Given the description of an element on the screen output the (x, y) to click on. 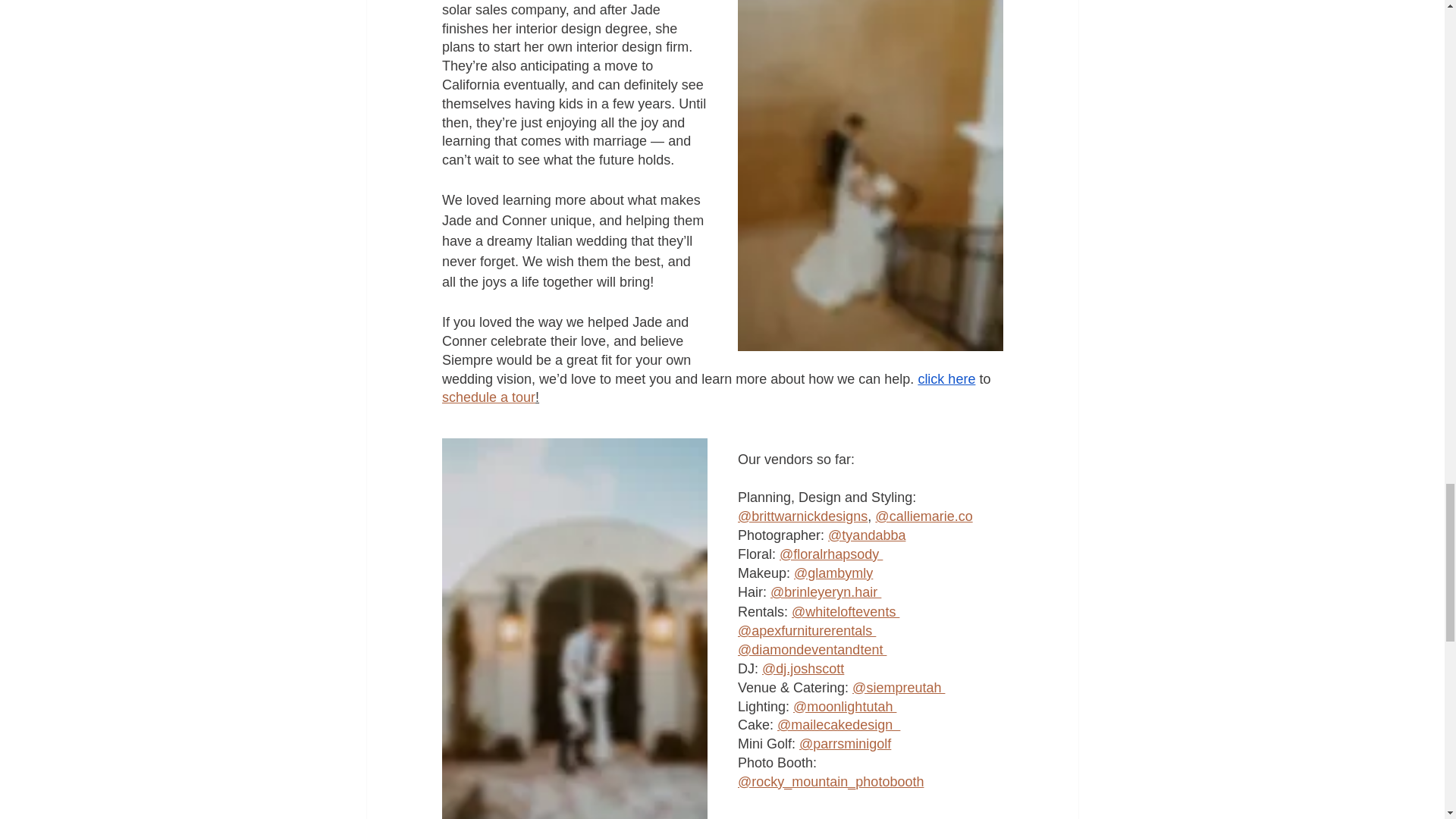
schedule a tour (487, 396)
click here (946, 378)
